Given the description of an element on the screen output the (x, y) to click on. 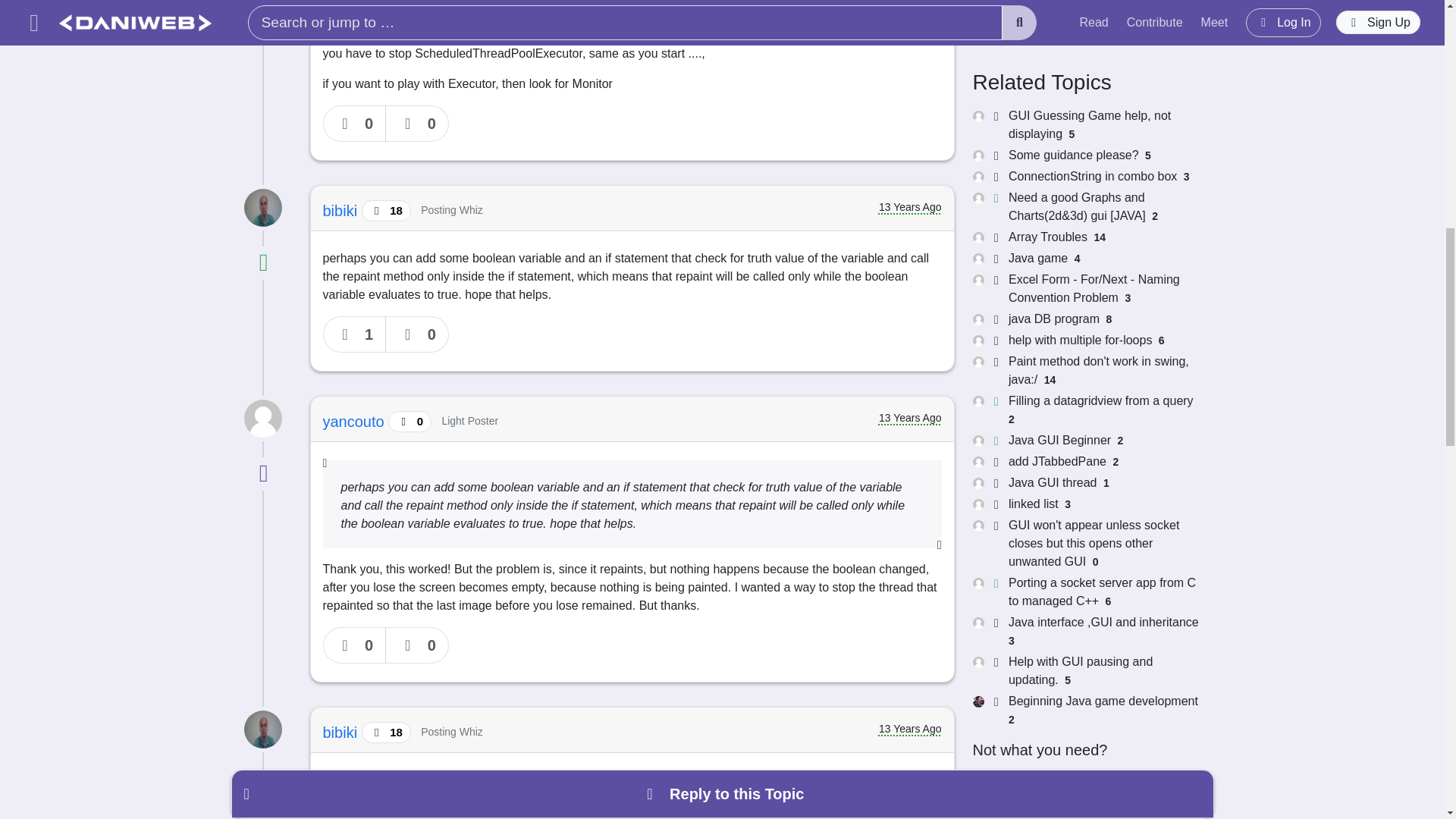
1 (355, 334)
0 (355, 645)
yancouto (355, 421)
0 (416, 334)
bibiki (342, 210)
0 (416, 123)
0 (416, 645)
0 (355, 123)
bibiki (342, 732)
